Given the description of an element on the screen output the (x, y) to click on. 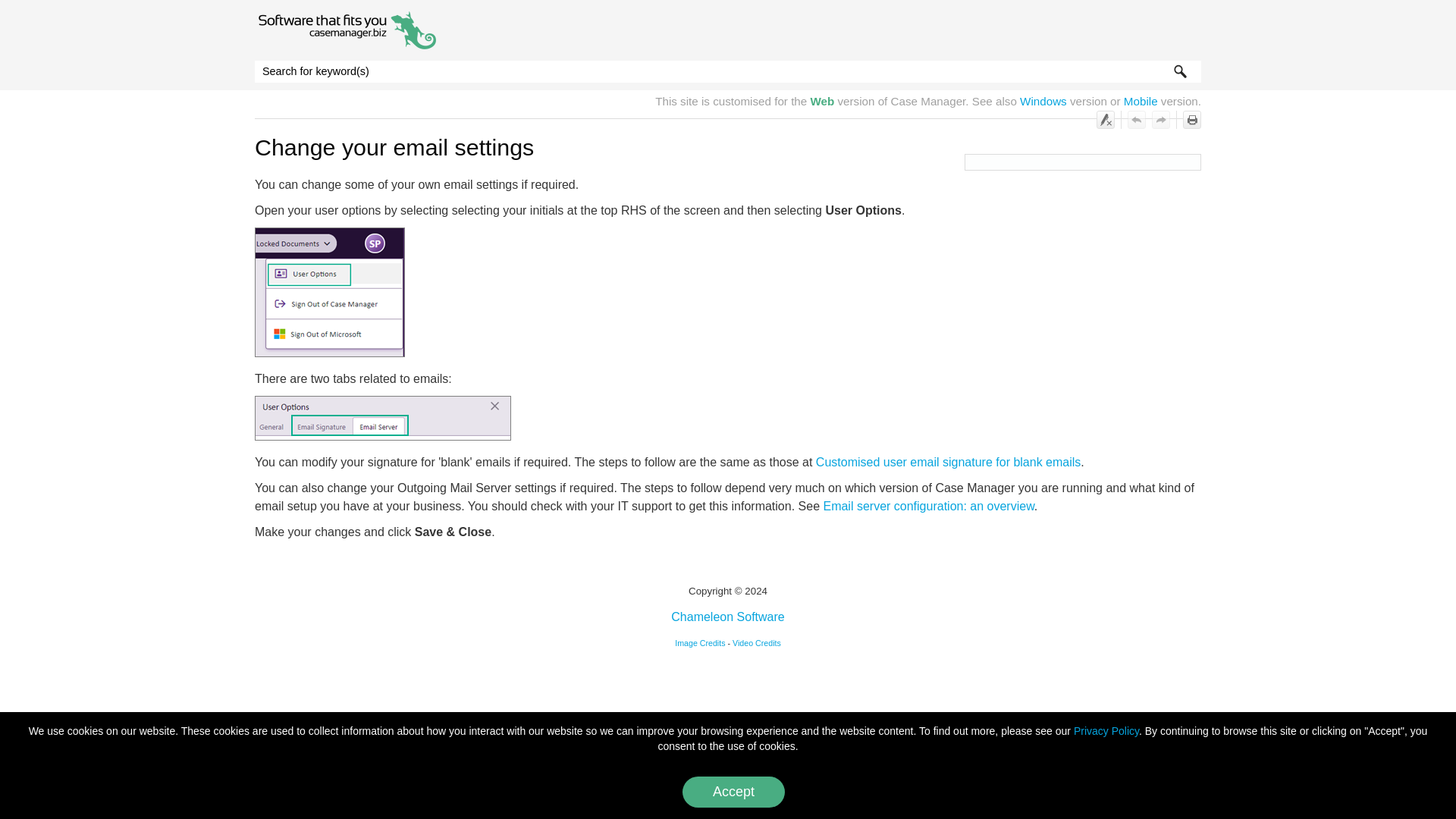
Video Credits (756, 642)
Go to previous page (1135, 119)
Remove highlights from search results (1105, 119)
Customised user email signature for blank emails (947, 461)
Privacy Policy (1106, 730)
Email server configuration: an overview (927, 505)
Mobile (1140, 101)
Chameleon Software (727, 616)
Go to next page (1160, 119)
Print this page (1191, 119)
Search (1179, 71)
Windows (1043, 101)
Accept (733, 791)
Image Credits (700, 642)
